Given the description of an element on the screen output the (x, y) to click on. 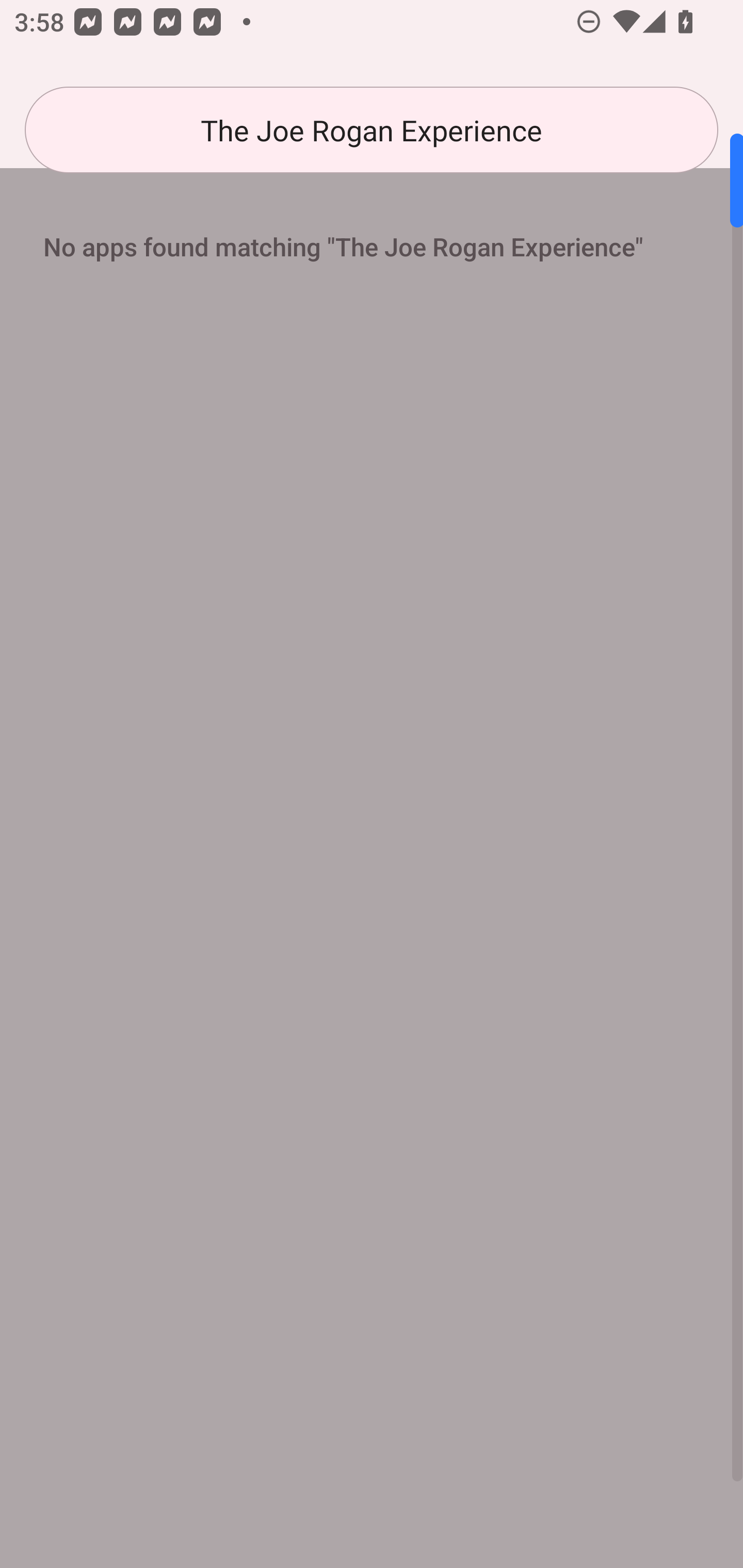
The Joe Rogan Experience (371, 130)
